Given the description of an element on the screen output the (x, y) to click on. 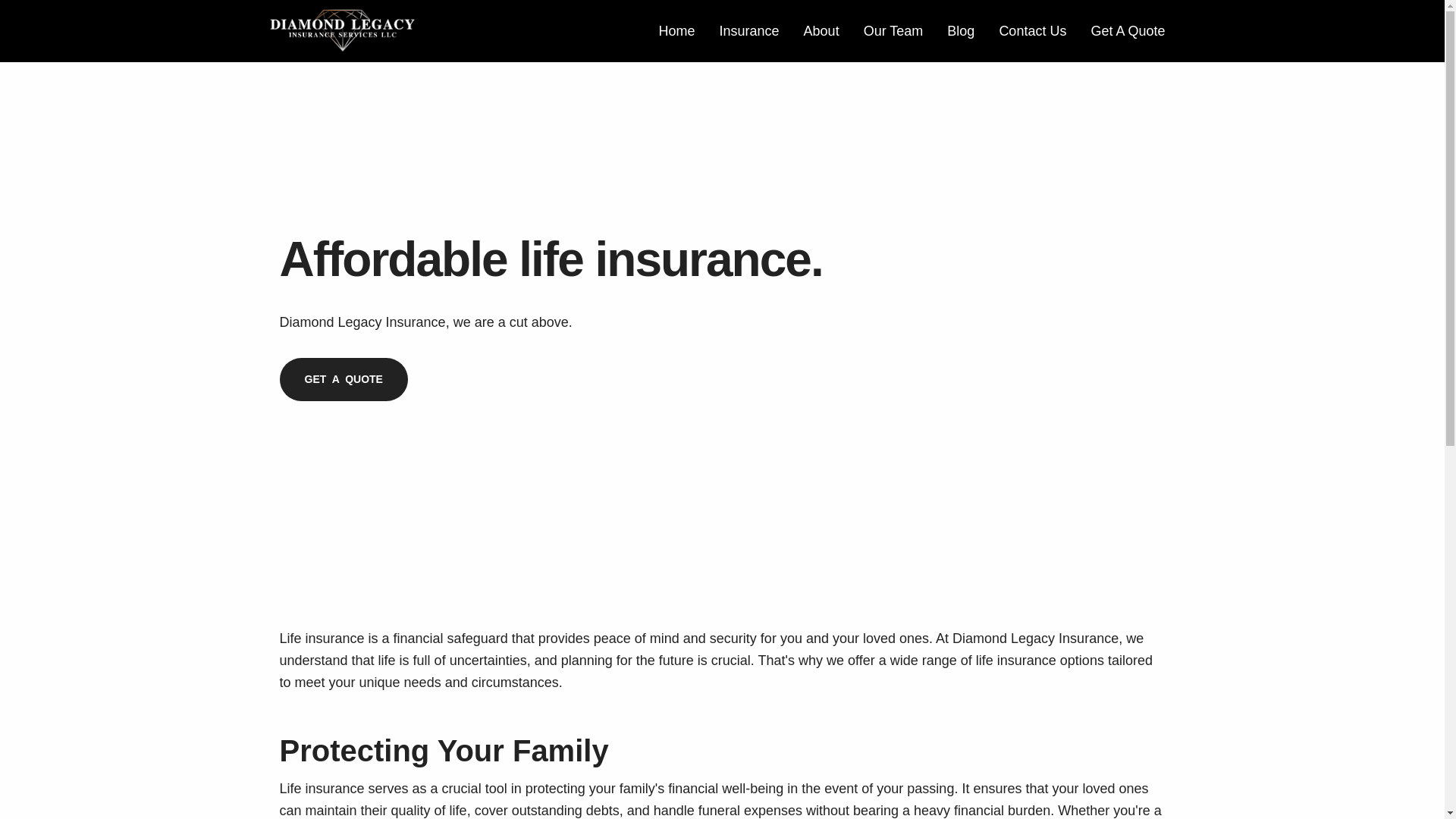
Contact Us (1032, 31)
Home (342, 41)
Our Team (893, 31)
Contact Us (1032, 31)
GET A QUOTE (343, 379)
Home (676, 31)
Our Team (893, 31)
Home (676, 31)
Get A Quote (1127, 31)
Quotes (1127, 31)
